Given the description of an element on the screen output the (x, y) to click on. 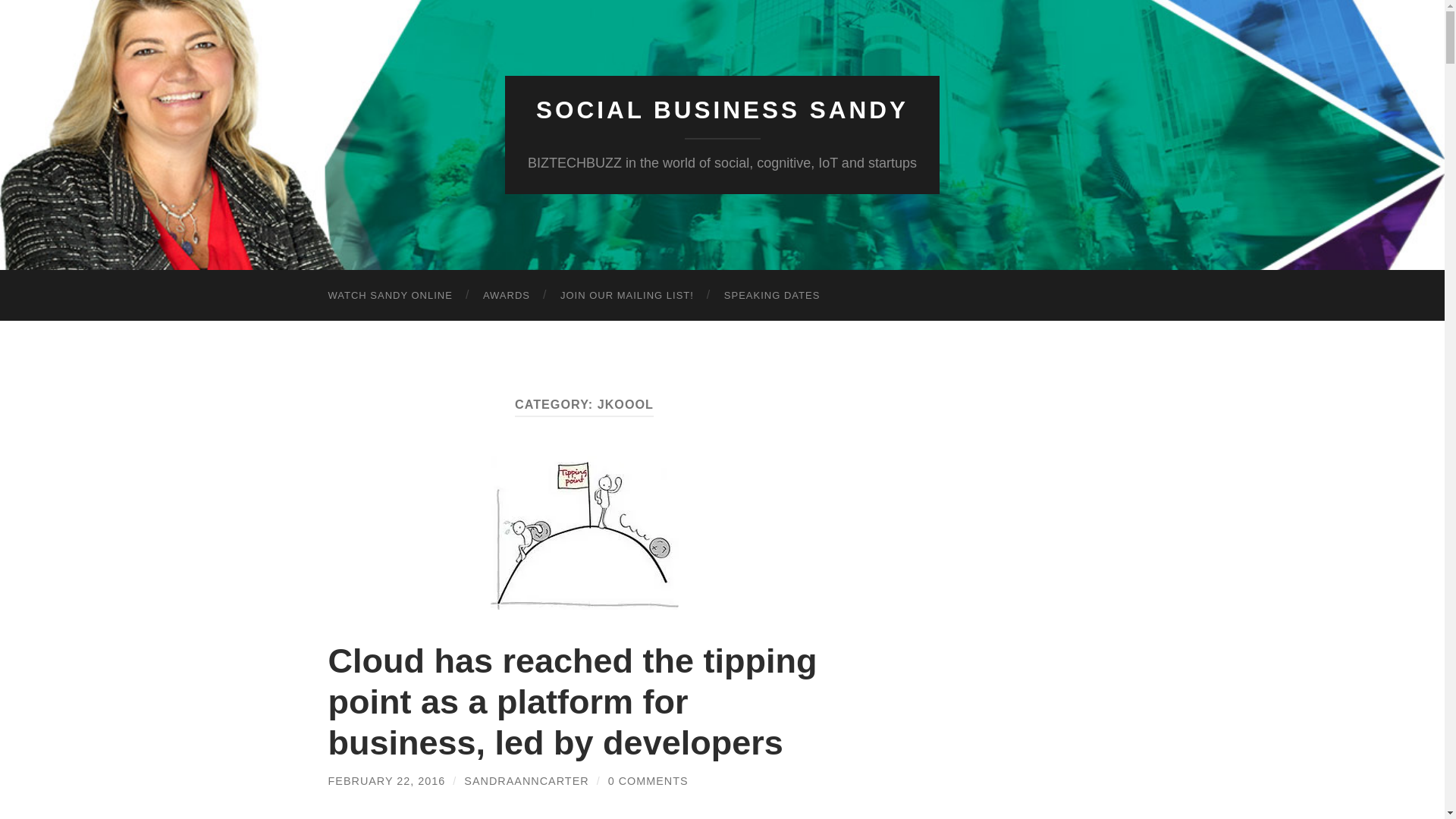
Posts by sandraanncarter (526, 780)
SOCIAL BUSINESS SANDY (721, 109)
WATCH SANDY ONLINE (390, 295)
JOIN OUR MAILING LIST! (626, 295)
FEBRUARY 22, 2016 (386, 780)
0 COMMENTS (648, 780)
SANDRAANNCARTER (526, 780)
SPEAKING DATES (771, 295)
AWARDS (505, 295)
